Given the description of an element on the screen output the (x, y) to click on. 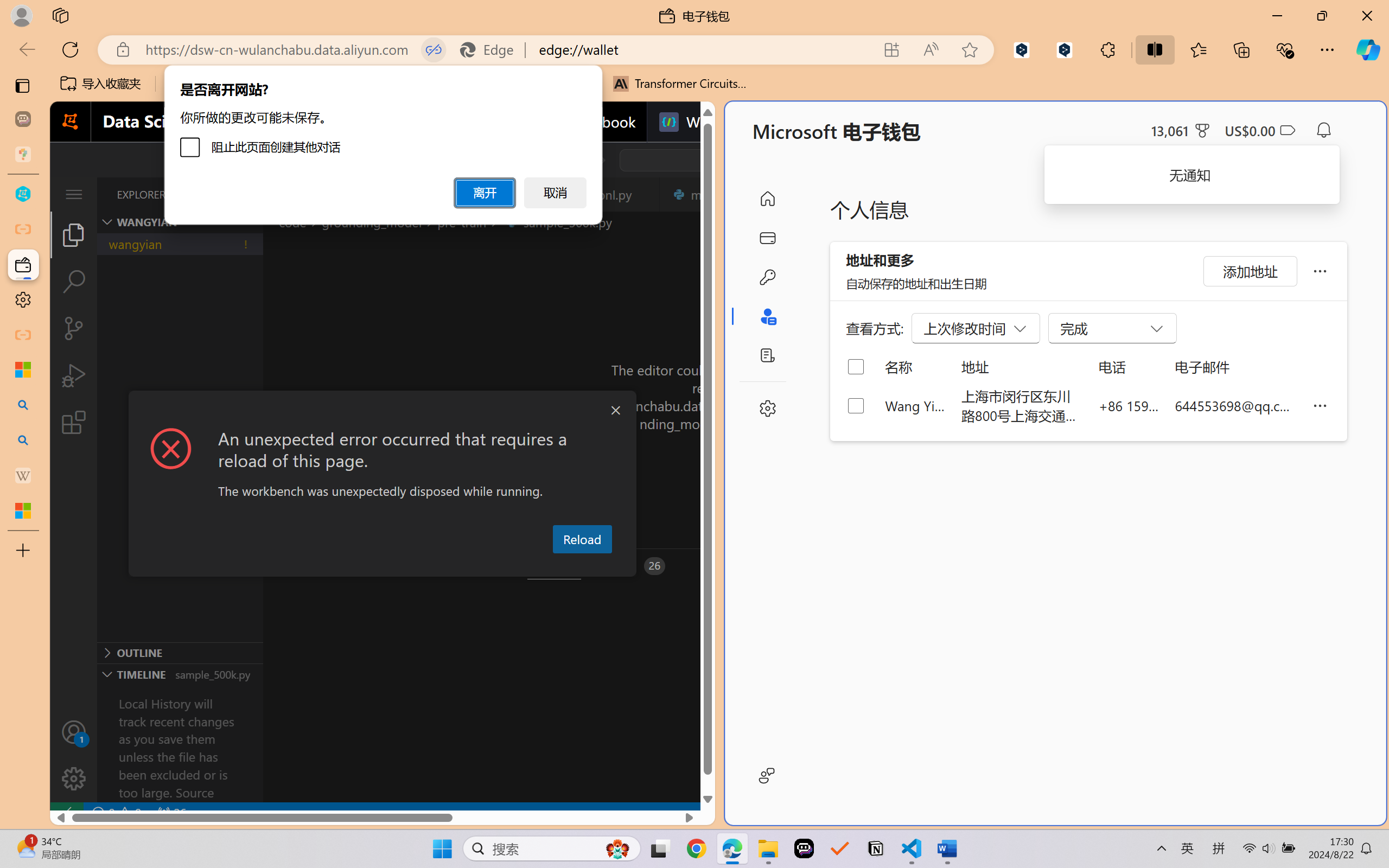
Microsoft security help and learning (22, 369)
Reload (581, 538)
Microsoft Cashback - US$0.00 (1259, 129)
